Given the description of an element on the screen output the (x, y) to click on. 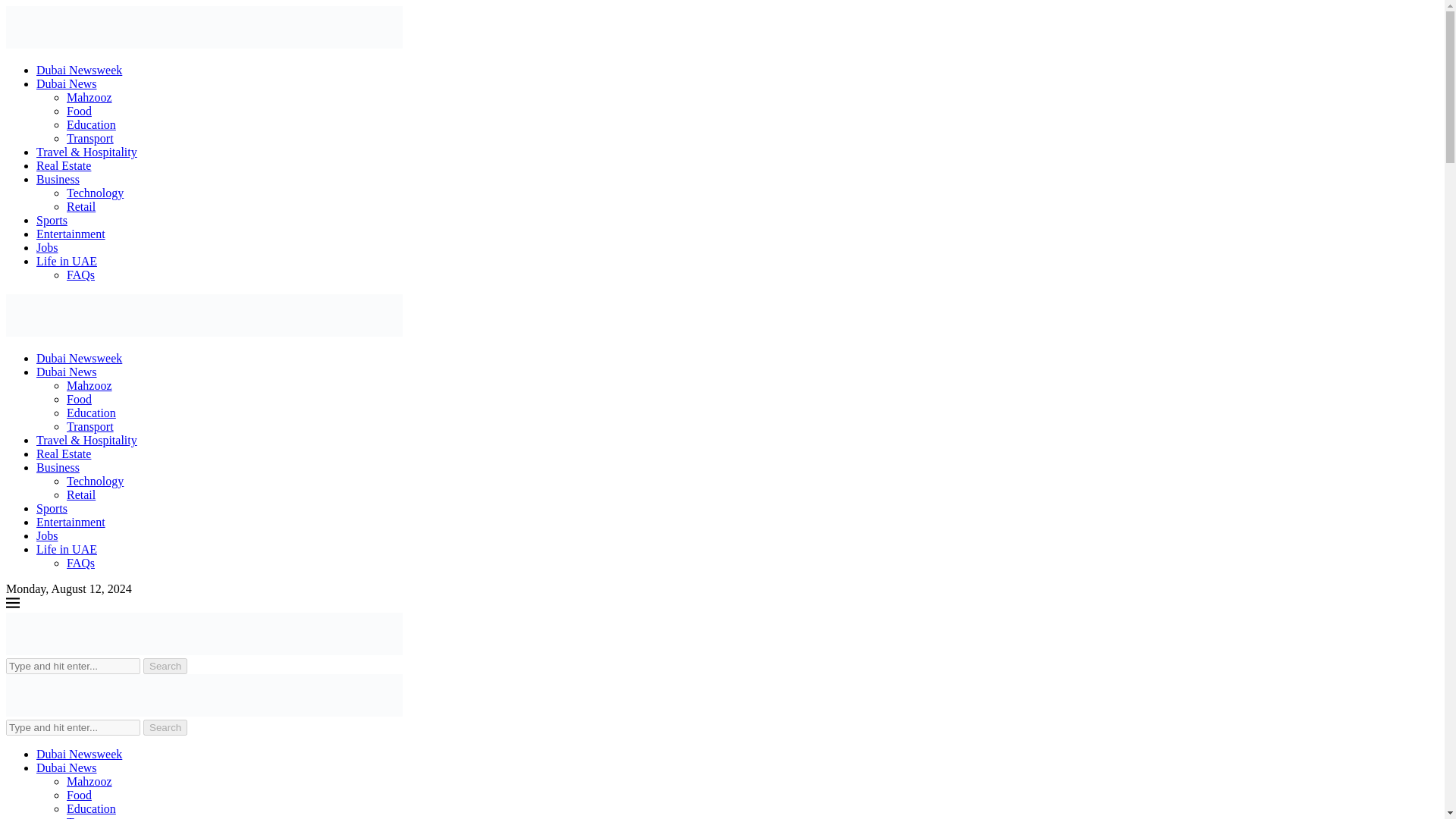
FAQs (80, 274)
Search (164, 666)
Education (91, 412)
Food (78, 110)
Life in UAE (66, 549)
Mahzooz (89, 385)
Real Estate (63, 164)
Technology (94, 481)
Business (58, 467)
Entertainment (70, 233)
